Given the description of an element on the screen output the (x, y) to click on. 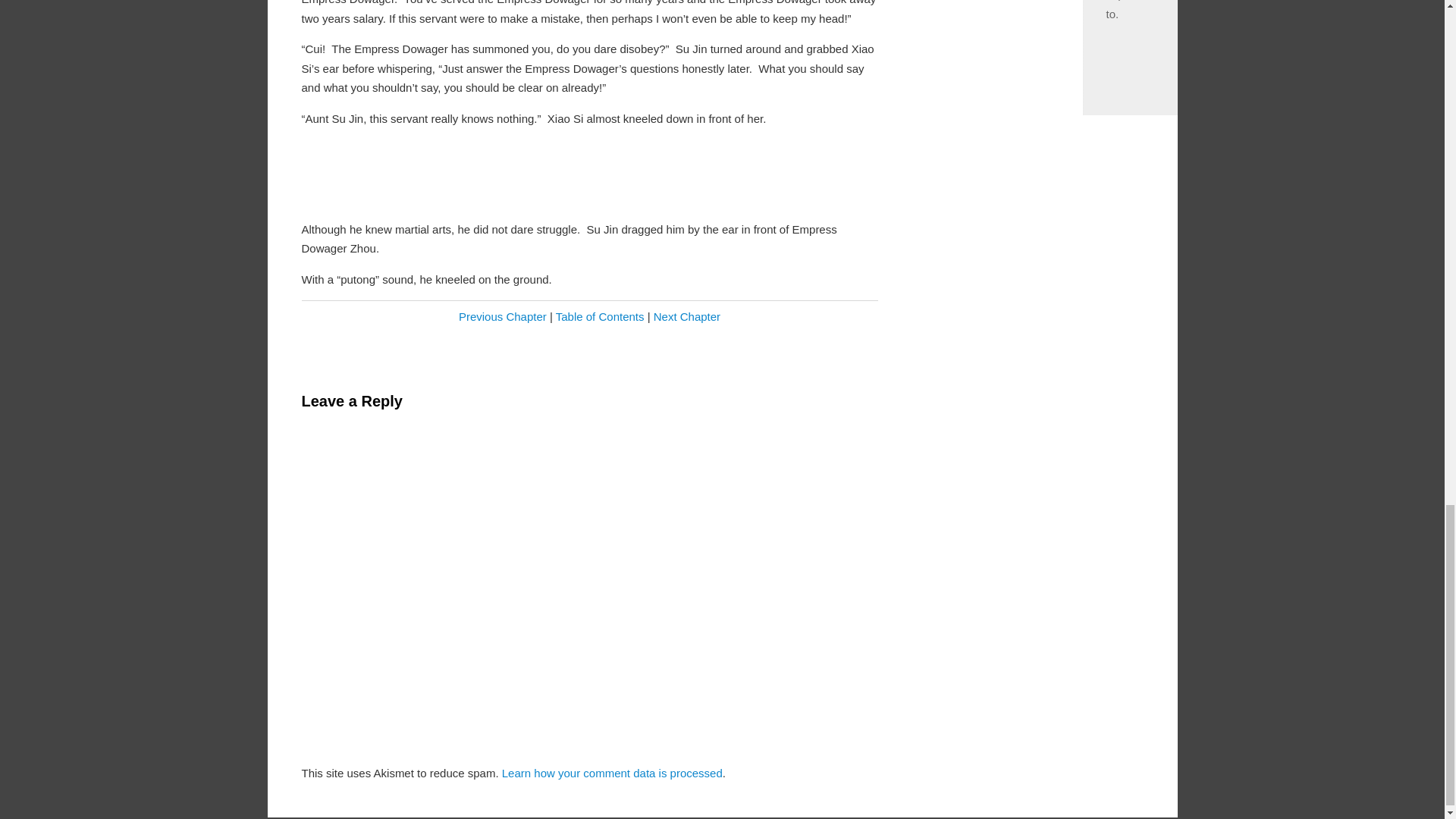
Previous Chapter (502, 316)
Next Chapter (686, 316)
Table of Contents (600, 316)
Learn how your comment data is processed (612, 772)
